Given the description of an element on the screen output the (x, y) to click on. 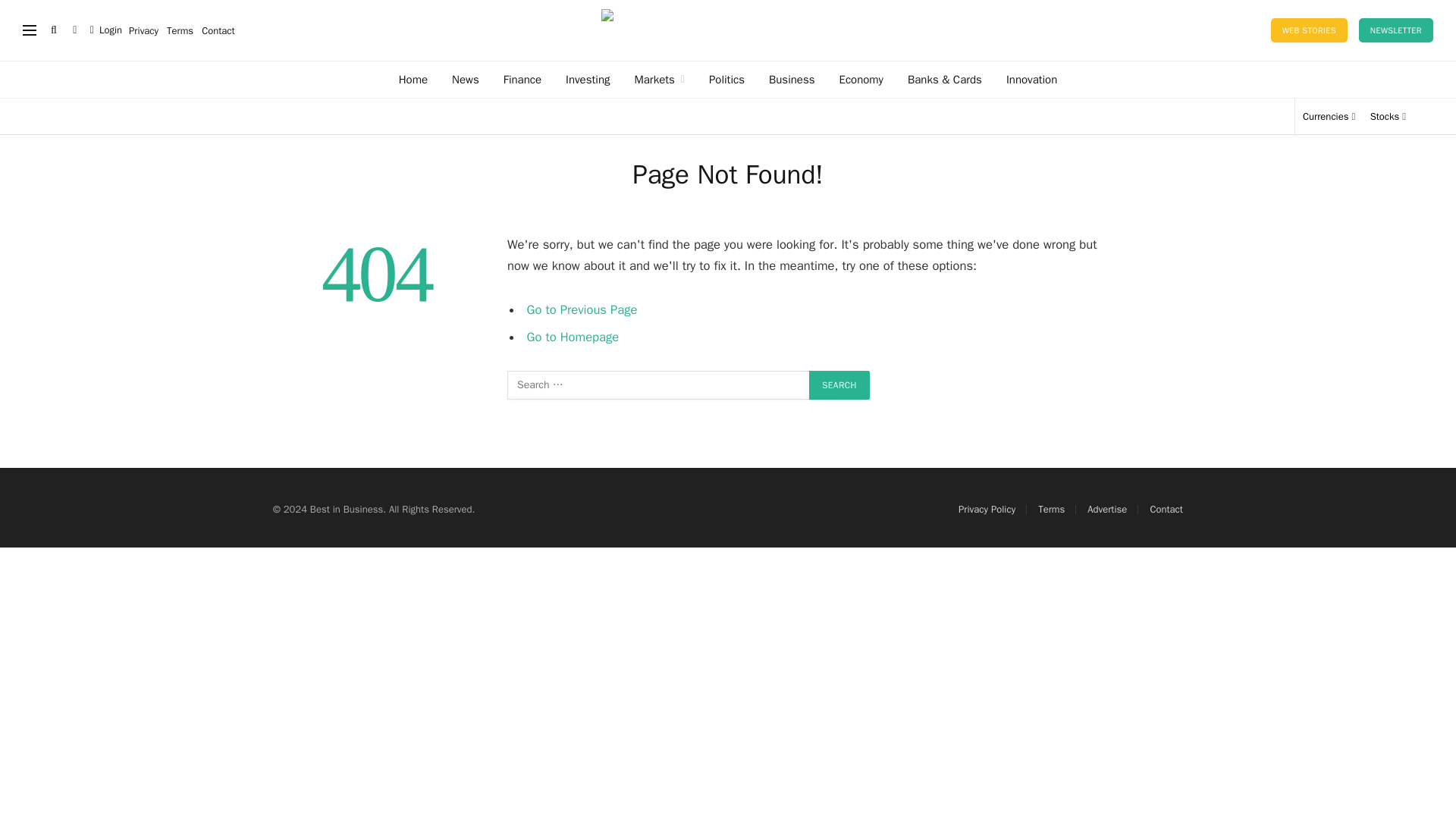
Switch to Dark Design - easier on eyes. (74, 30)
Search (839, 385)
Home (413, 79)
NEWSLETTER (1395, 30)
WEB STORIES (1309, 30)
Best in Business (726, 29)
Search (839, 385)
